Given the description of an element on the screen output the (x, y) to click on. 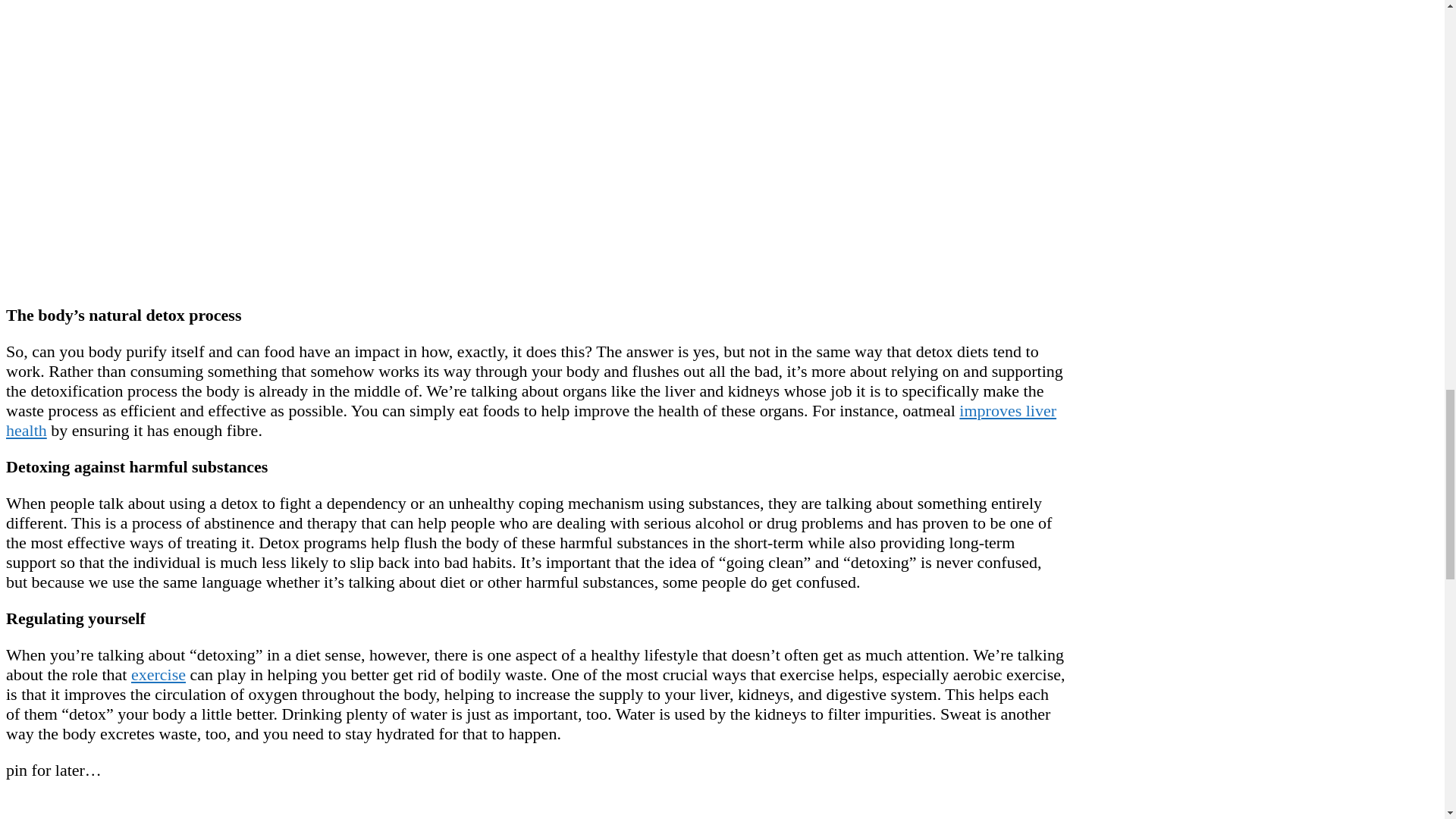
improves liver health (531, 420)
exercise (158, 674)
